Given the description of an element on the screen output the (x, y) to click on. 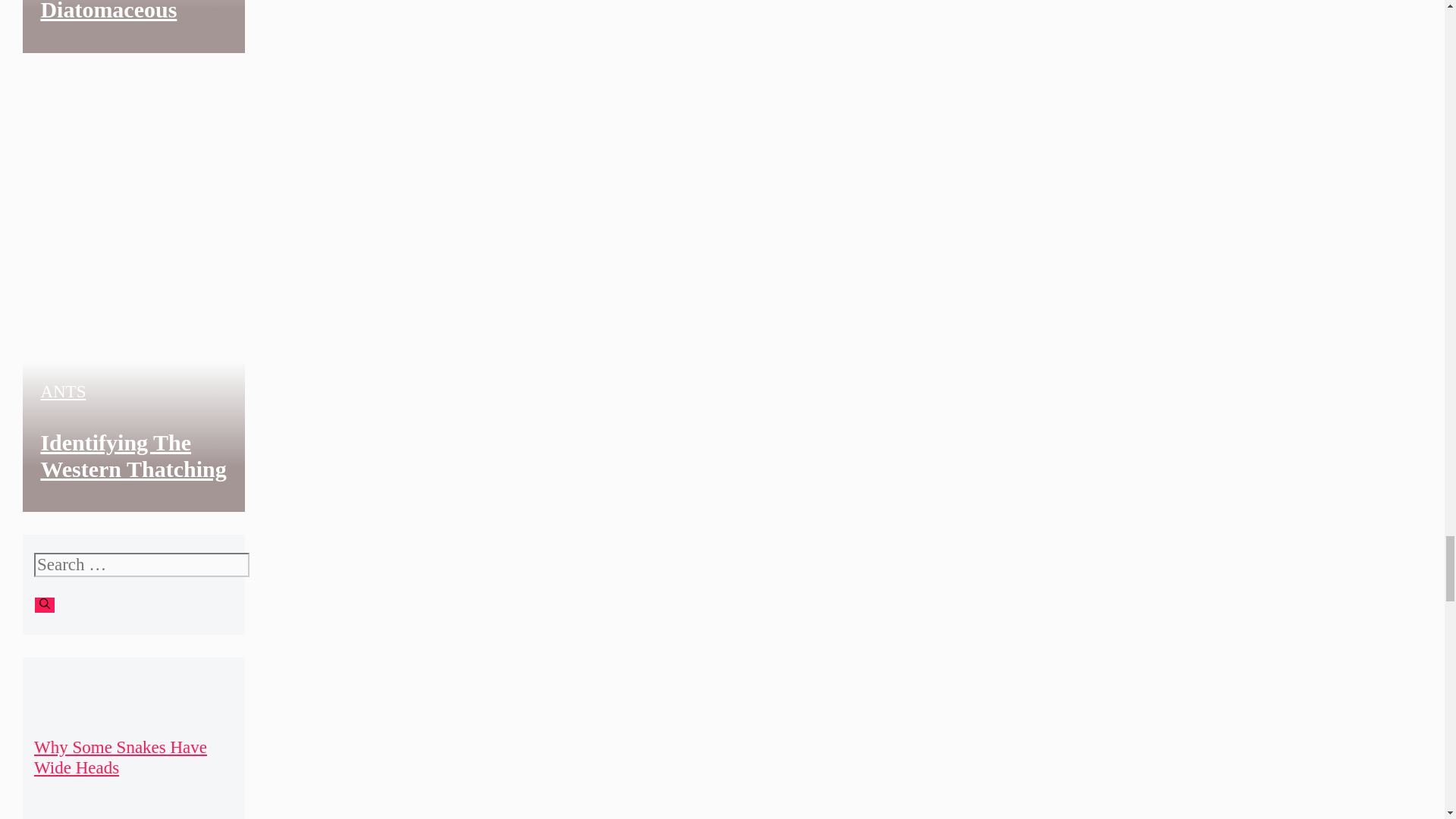
ANTS (62, 391)
How Long Does Diatomaceous Earth Take To Kill Mites? (404, 33)
Why Some Snakes Have Wide Heads (119, 756)
How Long Does Diatomaceous Earth Take To Kill Mites? (130, 37)
Identifying The Western Thatching Ant'S Thatch Mound (132, 481)
